Given the description of an element on the screen output the (x, y) to click on. 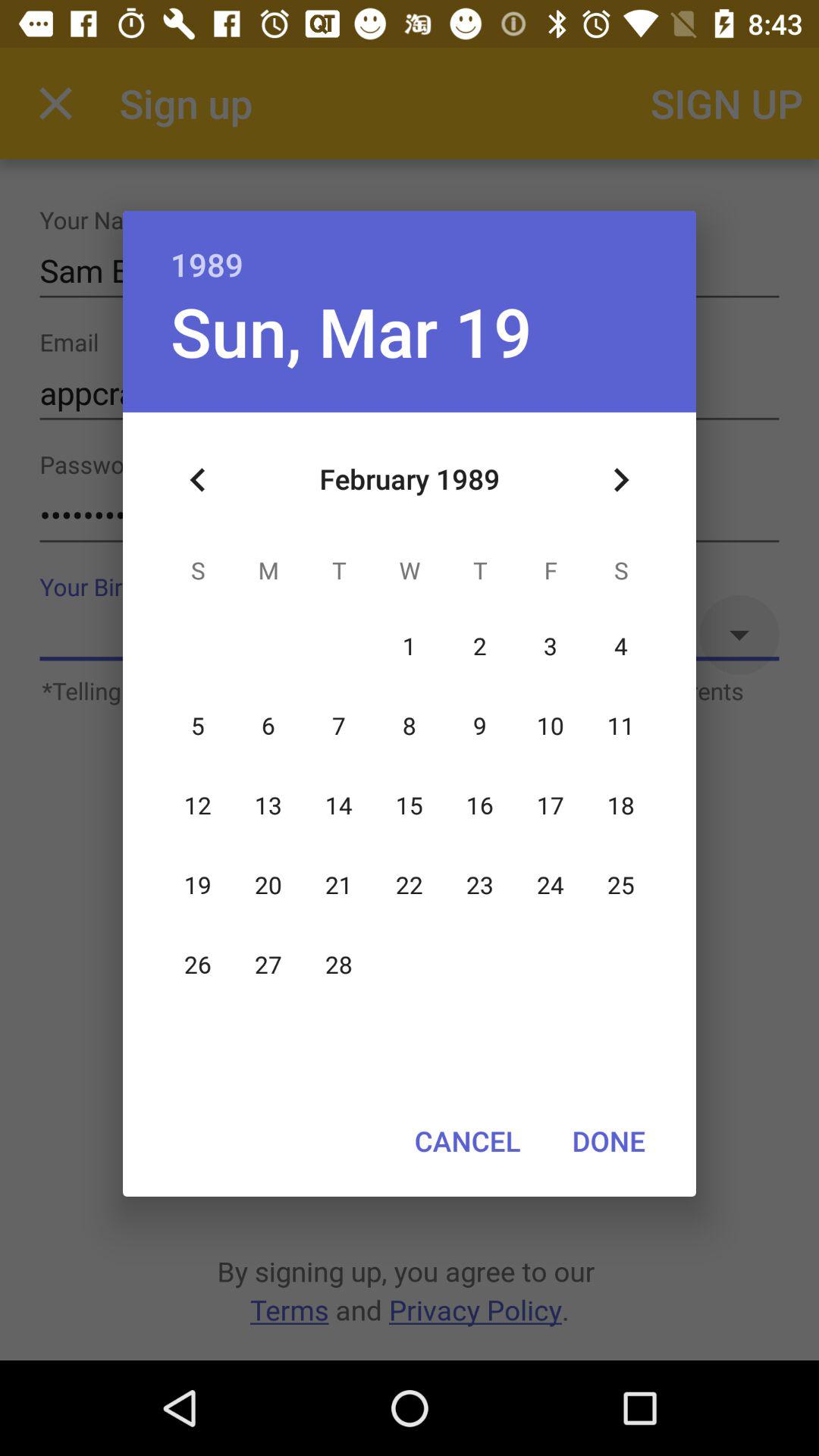
click icon below sun, mar 19 (197, 479)
